Given the description of an element on the screen output the (x, y) to click on. 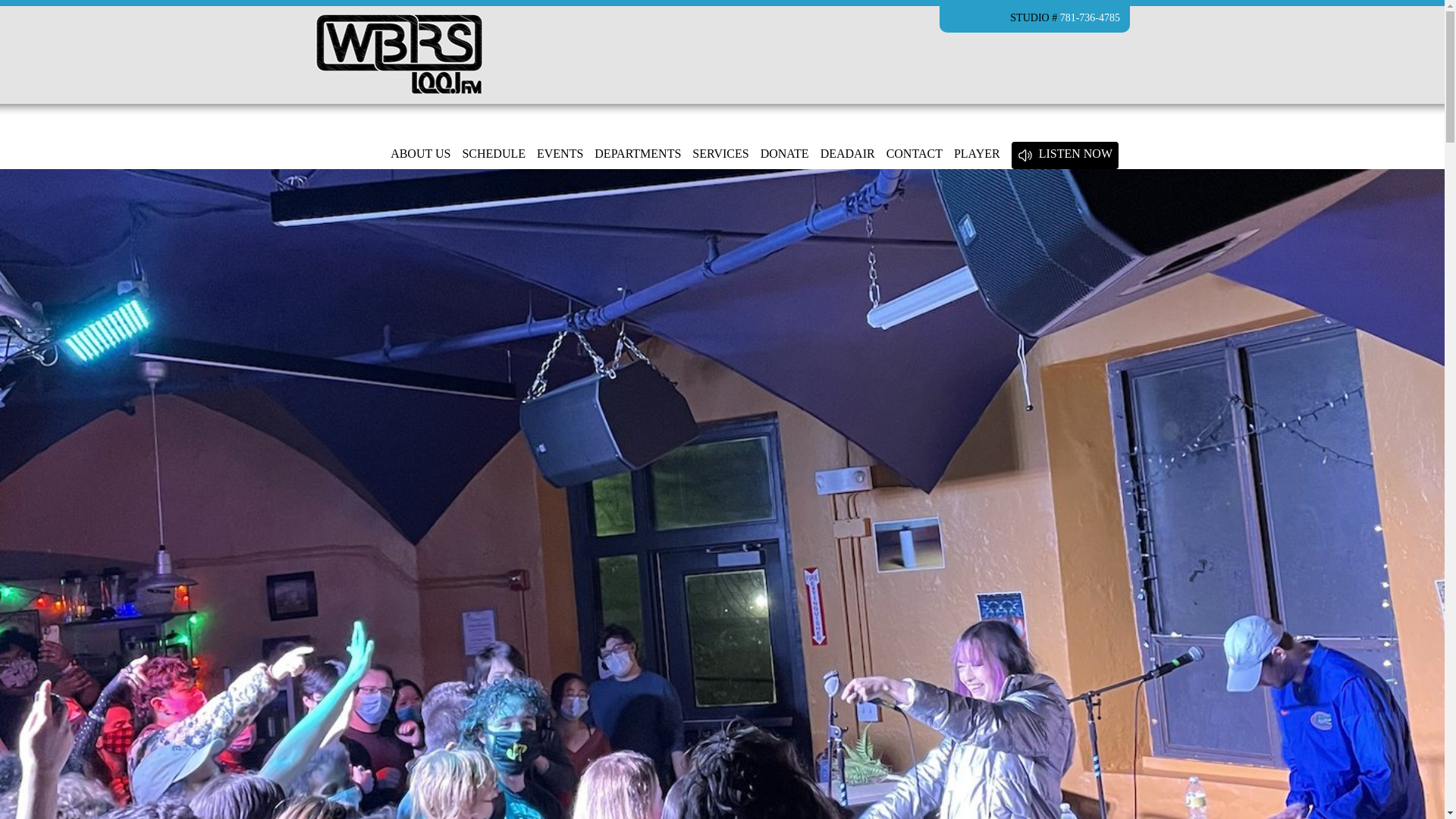
DONATE (784, 154)
Facebook (956, 17)
DEPARTMENTS (637, 154)
Twitter (975, 17)
SERVICES (720, 154)
ABOUT US (419, 154)
PLAYER (976, 154)
EVENTS (560, 154)
LISTEN NOW (1075, 154)
CONTACT (914, 154)
SCHEDULE (493, 154)
Instagram (994, 17)
DEADAIR (848, 154)
